Given the description of an element on the screen output the (x, y) to click on. 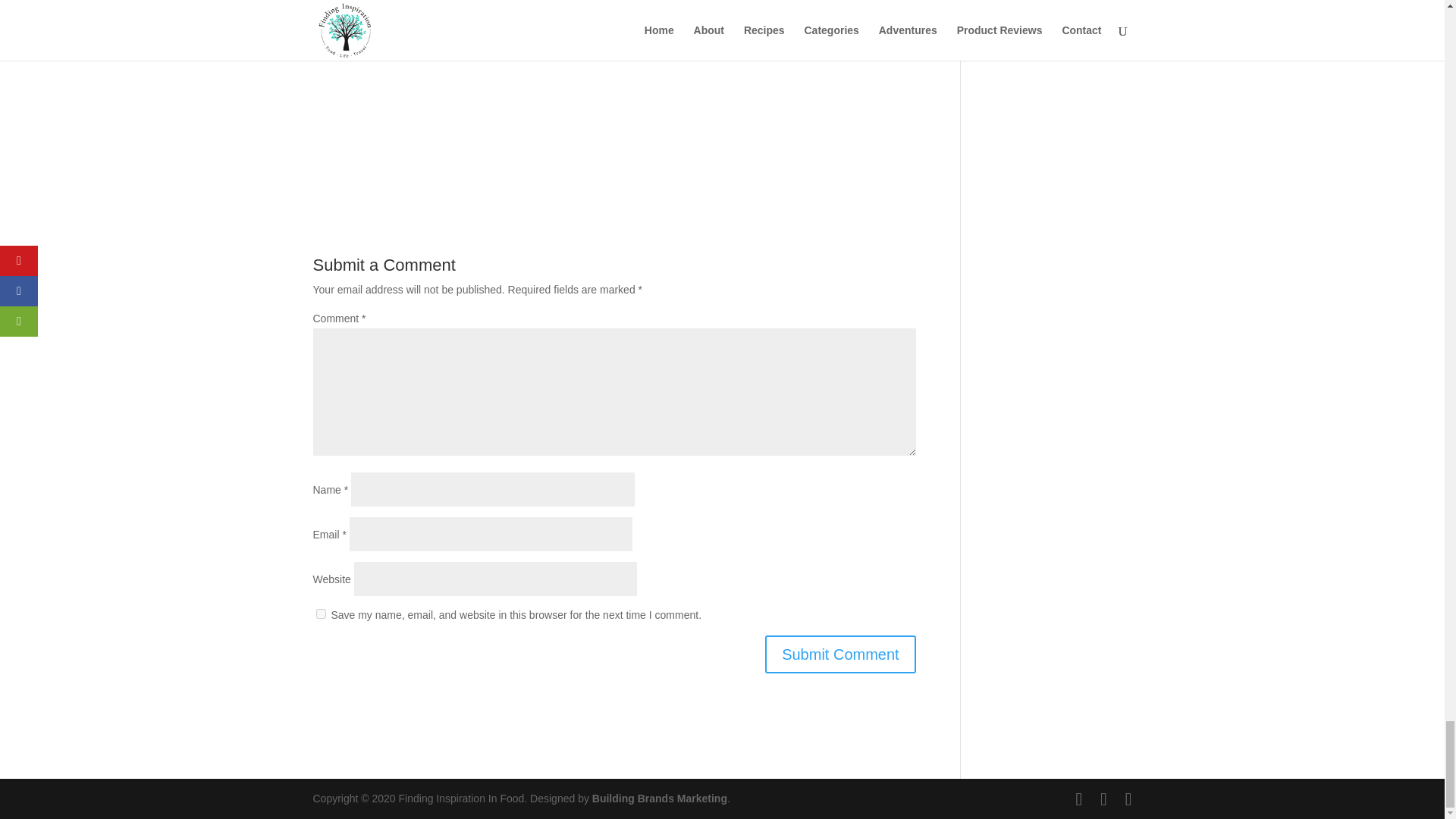
Submit Comment (840, 654)
yes (319, 614)
Submit Comment (840, 654)
